Given the description of an element on the screen output the (x, y) to click on. 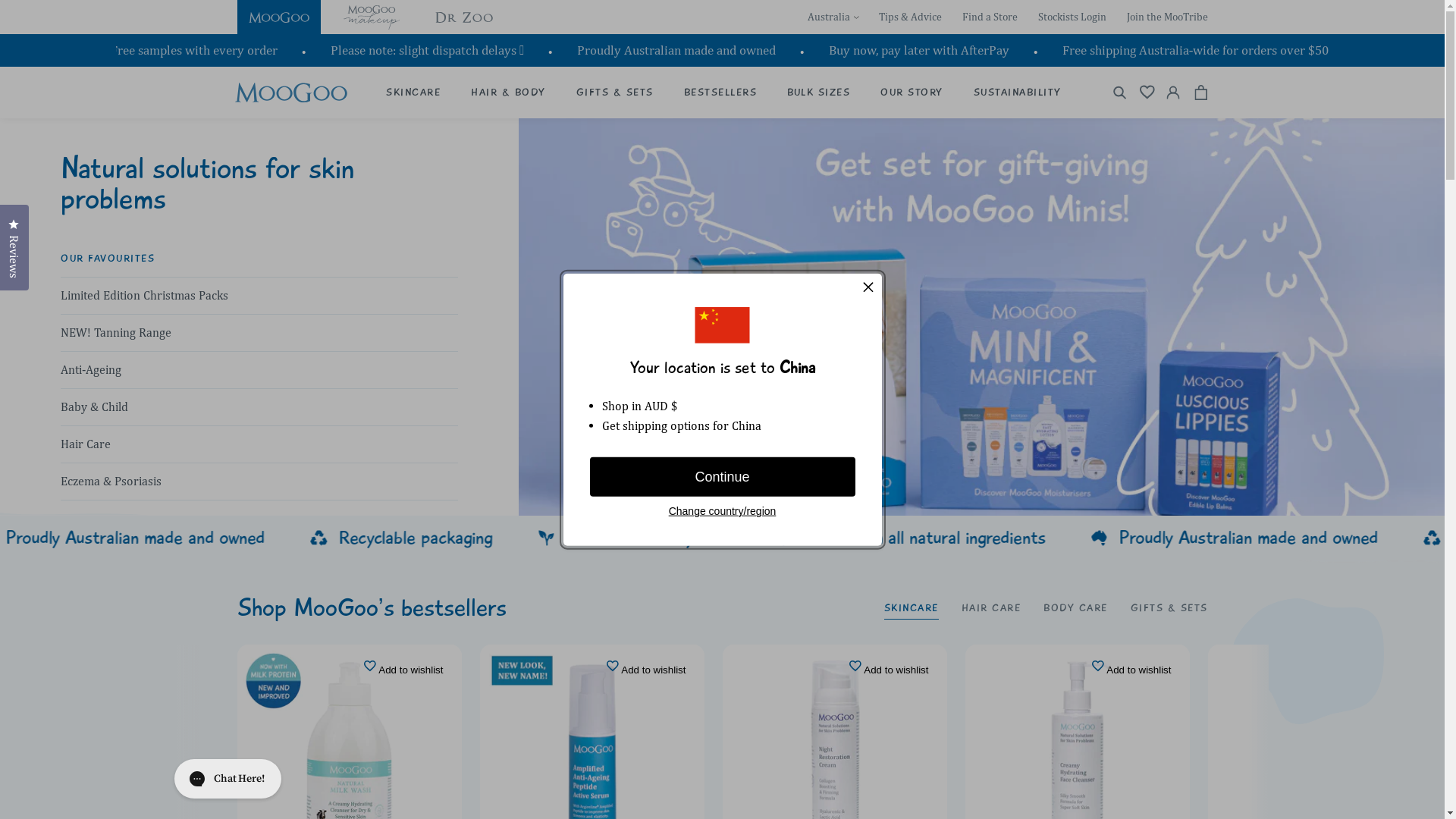
OUR STORY Element type: text (911, 92)
SKINCARE Element type: text (911, 607)
Cart Element type: text (1201, 92)
Proudly Australian made and owned Element type: text (681, 50)
SKINCARE Element type: text (412, 92)
Free shipping Australia-wide for orders over $50 Element type: text (1200, 50)
GIFTS & SETS Element type: text (1168, 607)
Eczema & Psoriasis Element type: text (259, 480)
BESTSELLERS Element type: text (720, 92)
NEW! Tanning Range Element type: text (259, 332)
Join the MooTribe Element type: text (1167, 17)
Change country/region Element type: text (722, 511)
Gorgias live chat messenger Element type: hover (227, 778)
Log in Element type: text (1173, 92)
Stockists Login Element type: text (1071, 17)
Tips & Advice Element type: text (909, 17)
Free samples with every order Element type: text (198, 50)
Baby & Child Element type: text (259, 406)
Find a Store Element type: text (988, 17)
Continue Element type: text (722, 476)
HAIR CARE Element type: text (991, 607)
Buy now, pay later with AfterPay Element type: text (924, 50)
Anti-Ageing Element type: text (259, 369)
SUSTAINABILITY Element type: text (1017, 92)
BODY CARE Element type: text (1075, 607)
Hair Care Element type: text (259, 444)
BULK SIZES Element type: text (818, 92)
HAIR & BODY Element type: text (508, 92)
GIFTS & SETS Element type: text (614, 92)
Australia Element type: text (831, 17)
Limited Edition Christmas Packs Element type: text (259, 295)
